Given the description of an element on the screen output the (x, y) to click on. 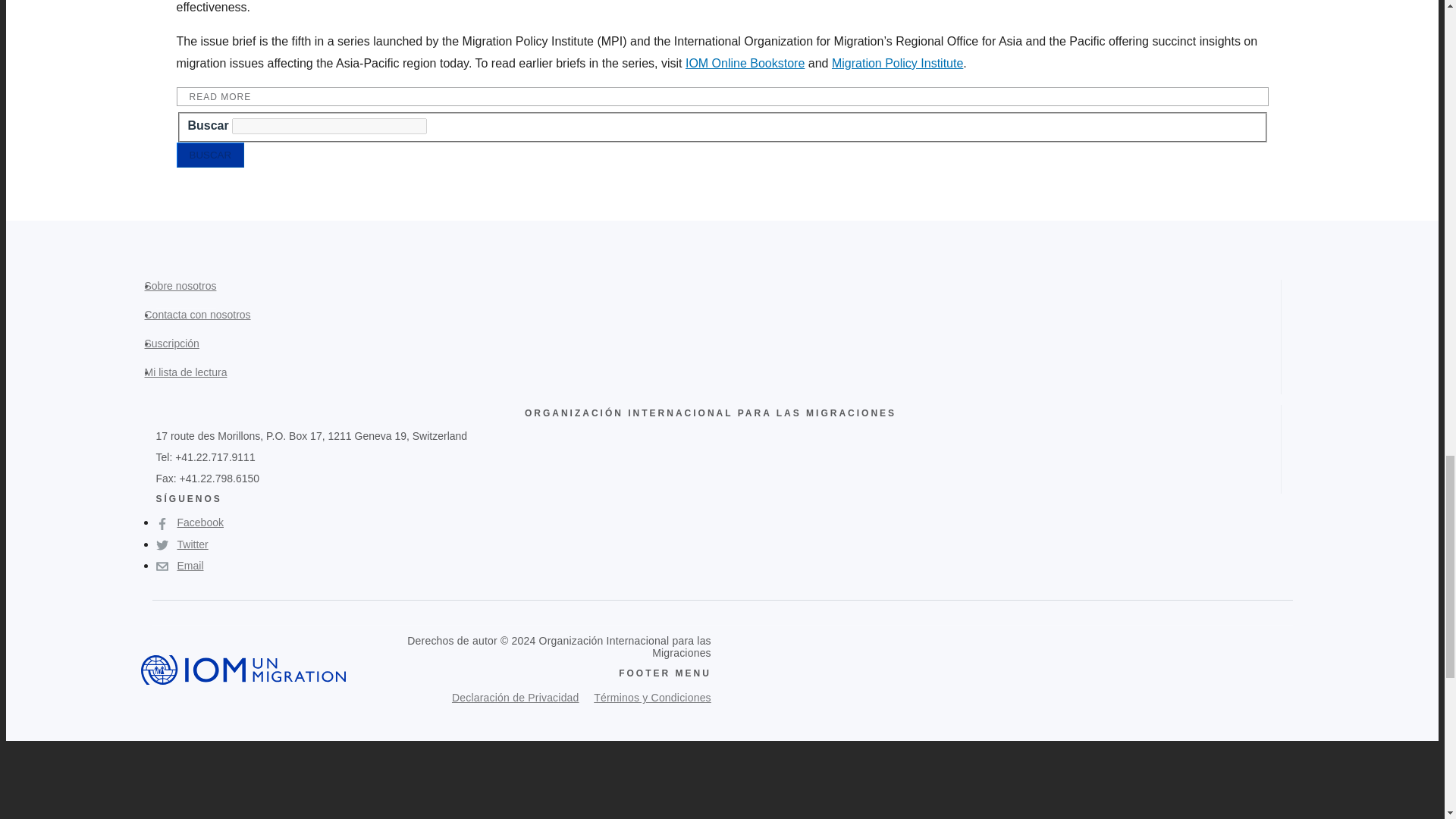
Migration Policy Institute (896, 62)
Sobre nosotros (185, 294)
Twitter (181, 544)
BUSCAR (210, 154)
IOM Online Bookstore (745, 62)
Contacta con nosotros (202, 322)
Mi lista de lectura (191, 380)
Facebook (189, 522)
Email (179, 565)
